Given the description of an element on the screen output the (x, y) to click on. 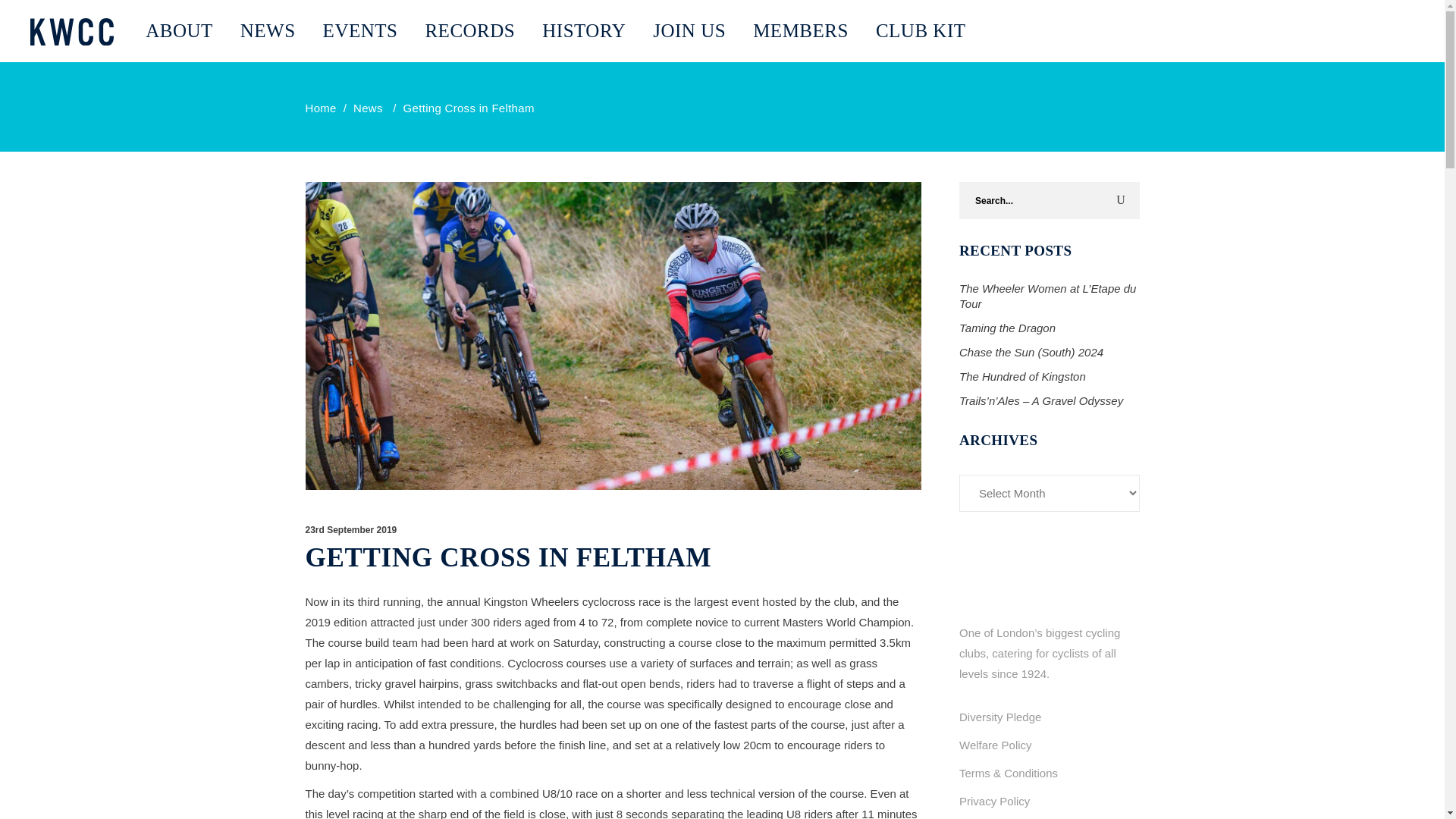
CLUB KIT (920, 31)
ABOUT (179, 31)
EVENTS (360, 31)
MEMBERS (800, 31)
RECORDS (469, 31)
NEWS (267, 31)
HISTORY (583, 31)
JOIN US (689, 31)
